Given the description of an element on the screen output the (x, y) to click on. 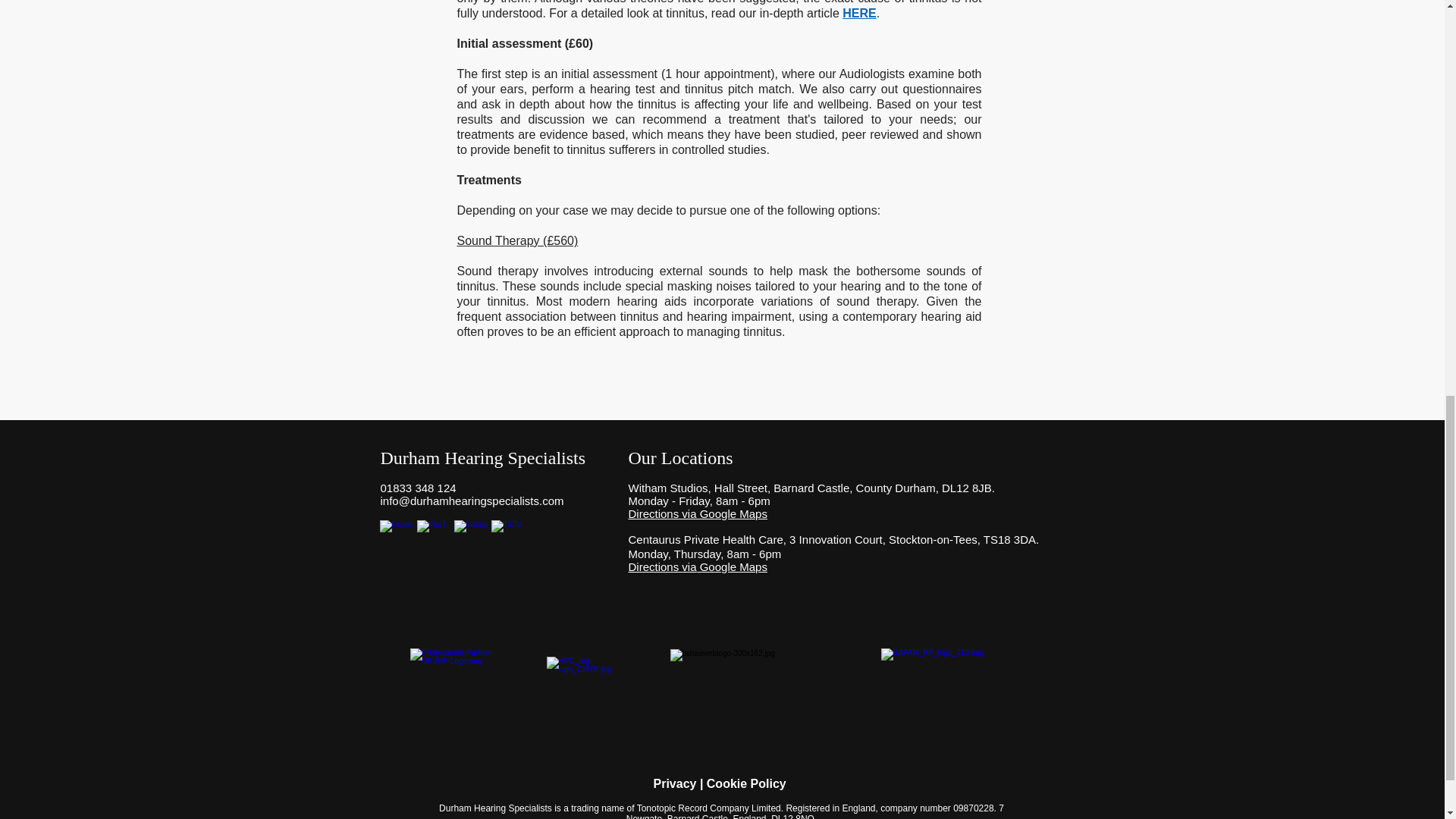
01833 348 124 (418, 487)
Directions via Google Maps (697, 513)
Cookie Policy (746, 783)
Directions via Google Maps (697, 566)
Durham Hearing Specialists (483, 457)
HERE (859, 12)
Privacy (675, 783)
